Given the description of an element on the screen output the (x, y) to click on. 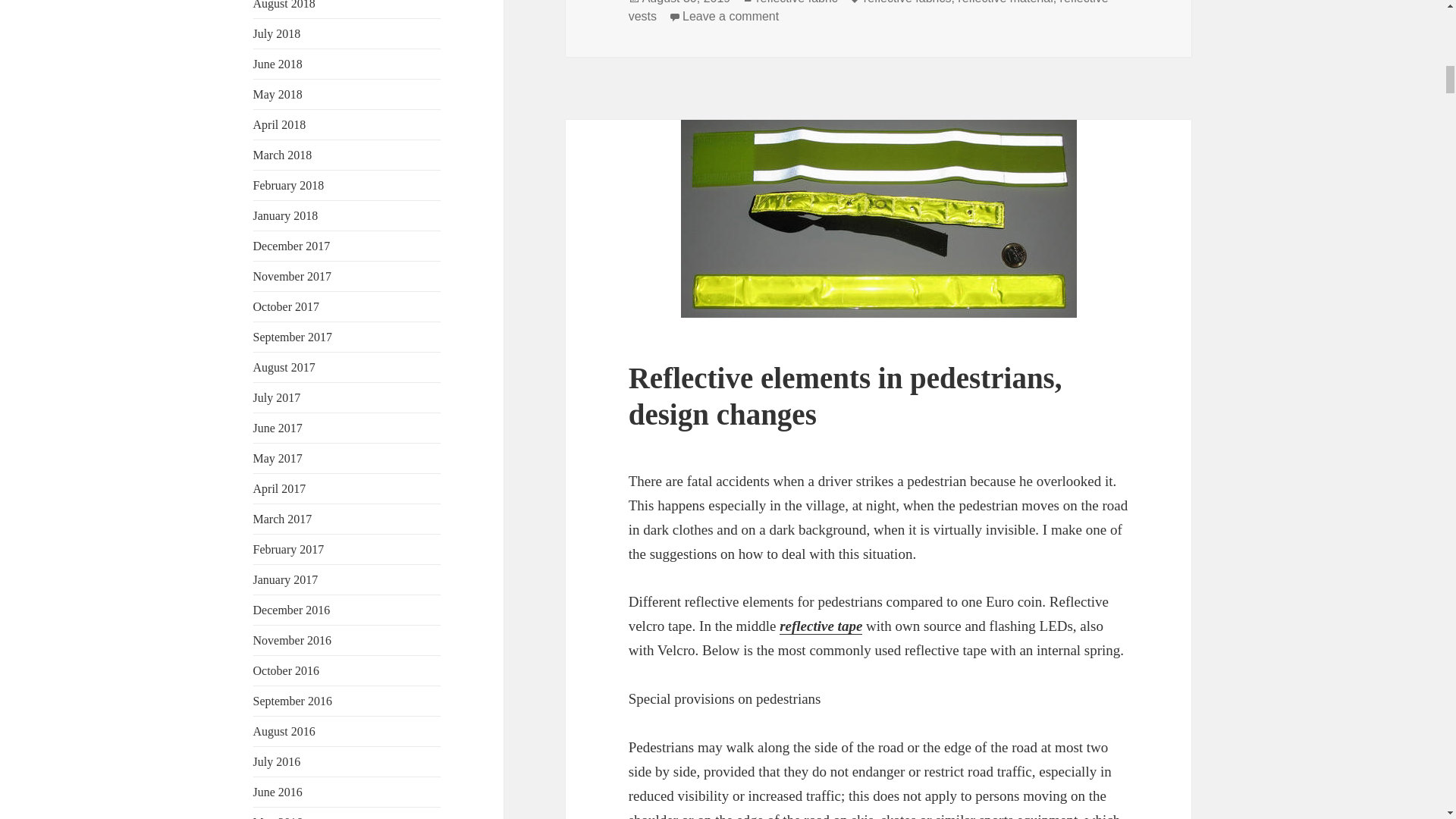
August 2018 (284, 4)
June 2018 (277, 63)
July 2018 (277, 33)
